Given the description of an element on the screen output the (x, y) to click on. 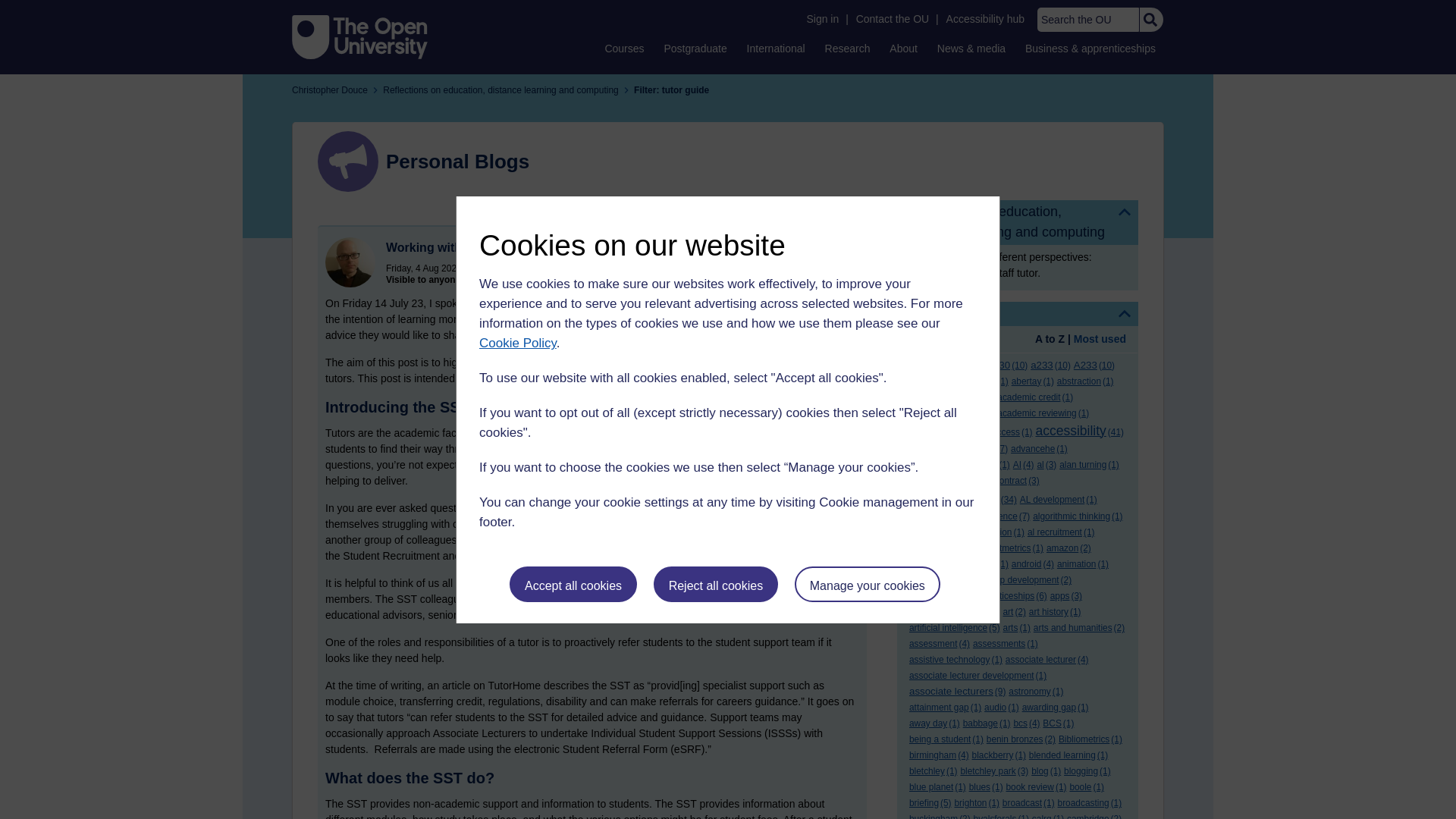
Contact the OU (892, 19)
Help with Order: (951, 340)
Research (847, 48)
Tags (1017, 313)
Sign in (822, 19)
Search (1149, 19)
Christopher Douce (349, 261)
Search (1149, 19)
Reflections on education, distance learning and computing (1017, 221)
